Given the description of an element on the screen output the (x, y) to click on. 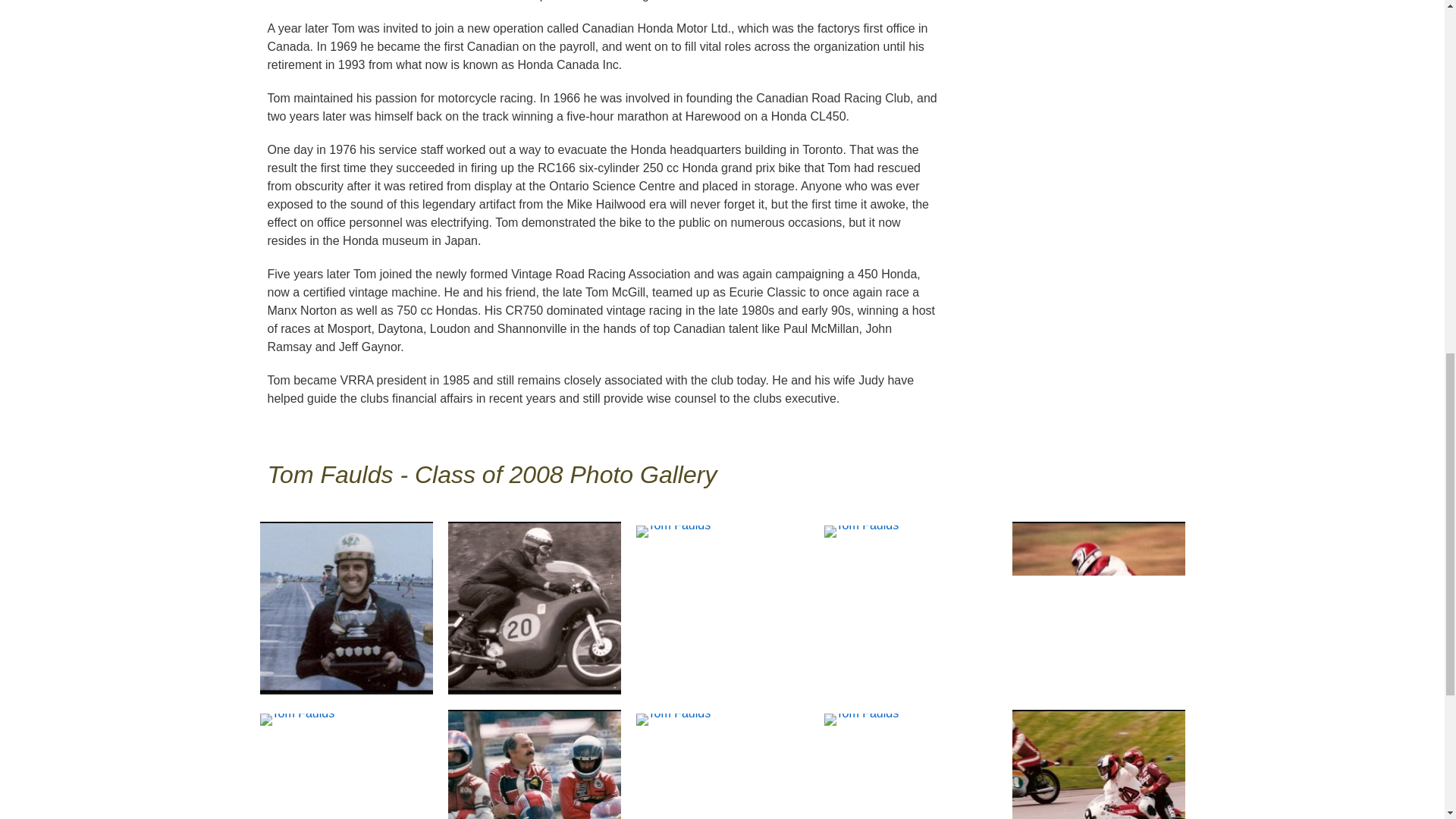
Tom Faulds (672, 718)
Tom Faulds (296, 718)
Tom Faulds (861, 718)
Tom Faulds (672, 530)
Tom Faulds (533, 795)
Tom Faulds (1098, 606)
Tom Faulds (861, 530)
Tom Faulds (533, 606)
Tom Faulds (1098, 795)
Tom Faulds (345, 606)
